Given the description of an element on the screen output the (x, y) to click on. 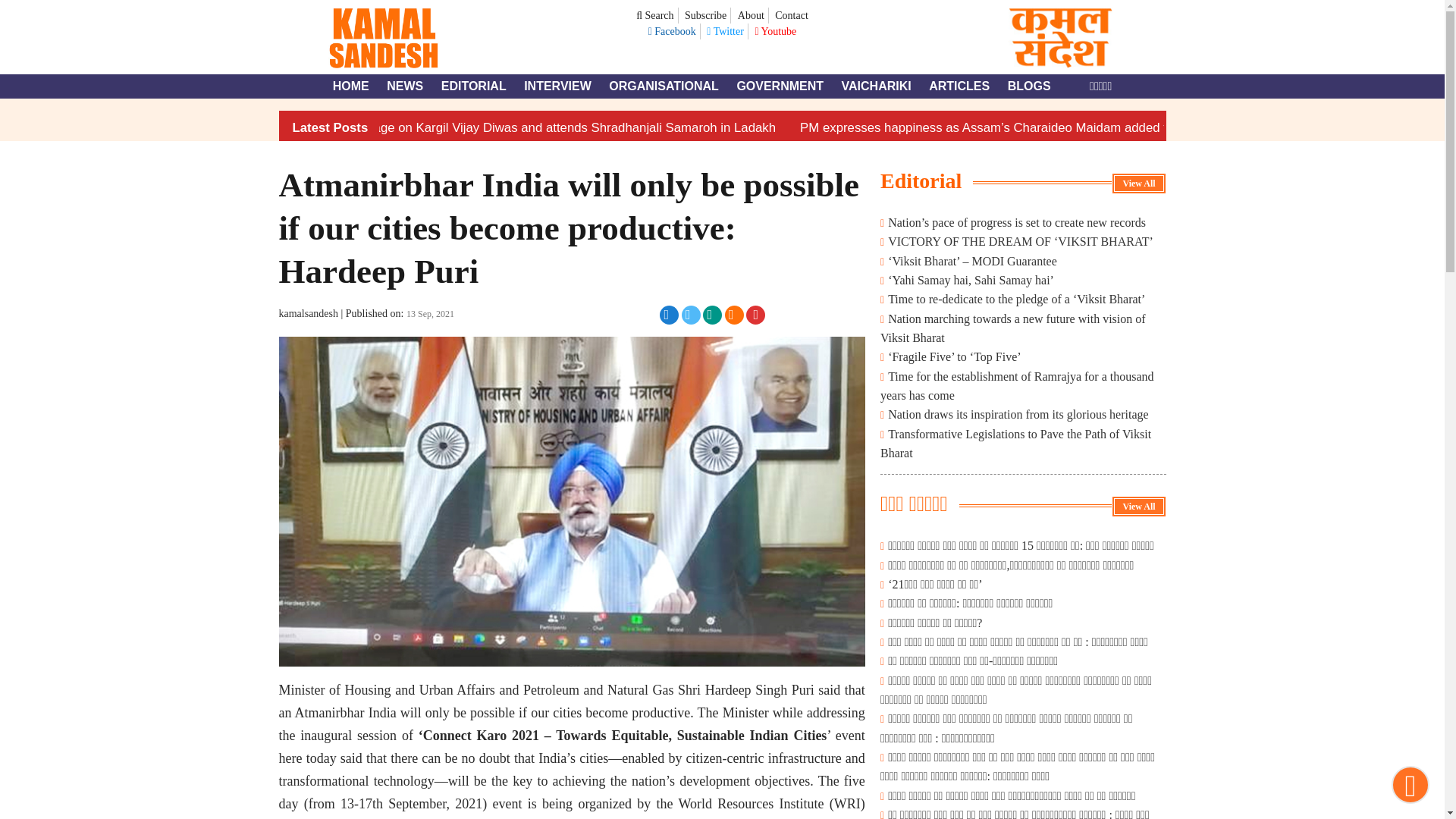
About (750, 15)
EDITORIAL (473, 85)
Subscribe (705, 15)
BLOGS (1029, 85)
Posts by kamalsandesh (309, 313)
Contact (791, 15)
Search (654, 15)
HOME (351, 85)
Youtube (775, 30)
INTERVIEW (557, 85)
GOVERNMENT (780, 85)
Twitter (725, 30)
NEWS (405, 85)
VAICHARIKI (876, 85)
ARTICLES (959, 85)
